Given the description of an element on the screen output the (x, y) to click on. 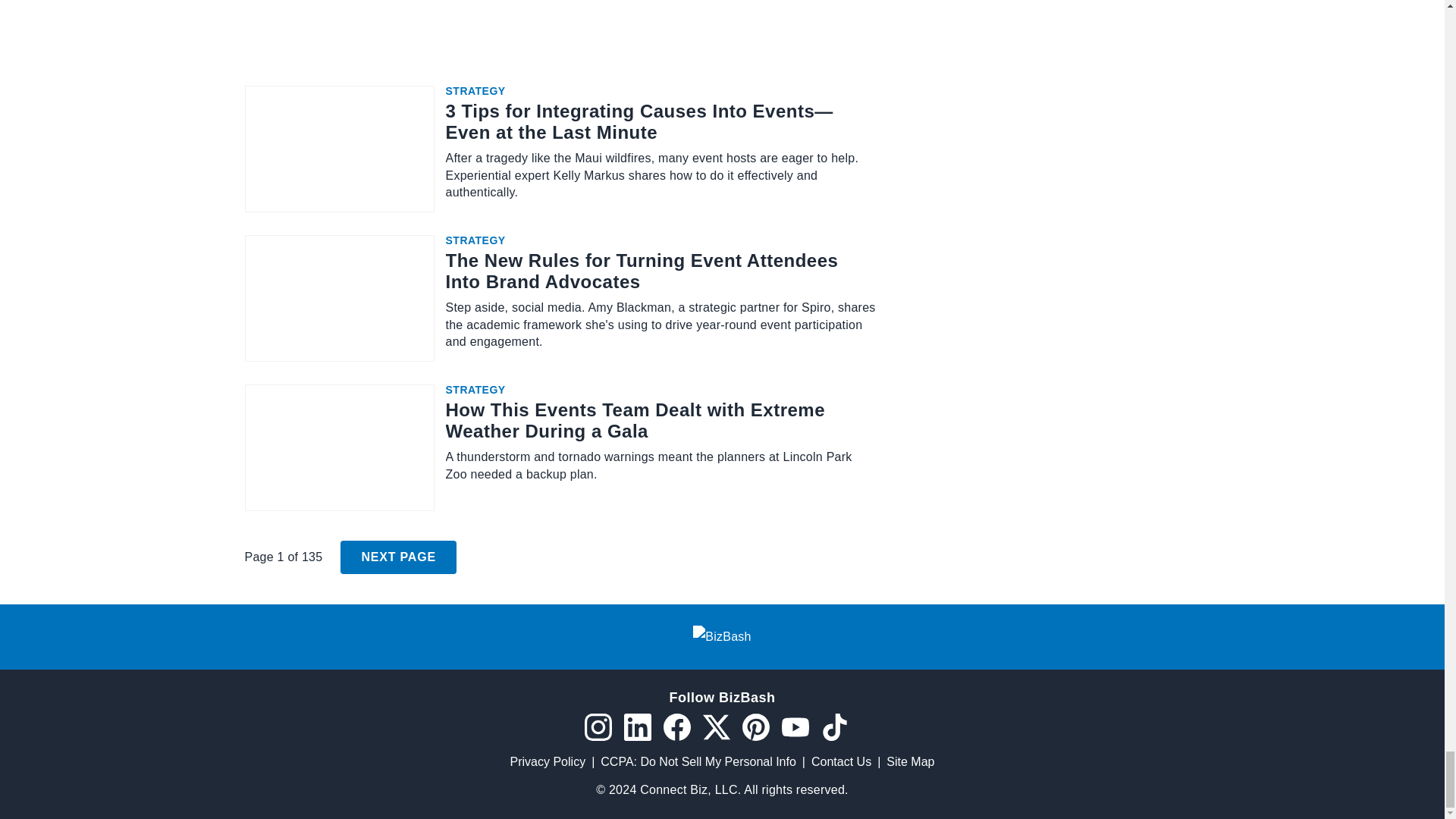
Pinterest icon (754, 727)
Instagram icon (597, 727)
Twitter X icon (715, 727)
Facebook icon (676, 727)
TikTok (834, 727)
LinkedIn icon (636, 727)
YouTube icon (794, 727)
